Given the description of an element on the screen output the (x, y) to click on. 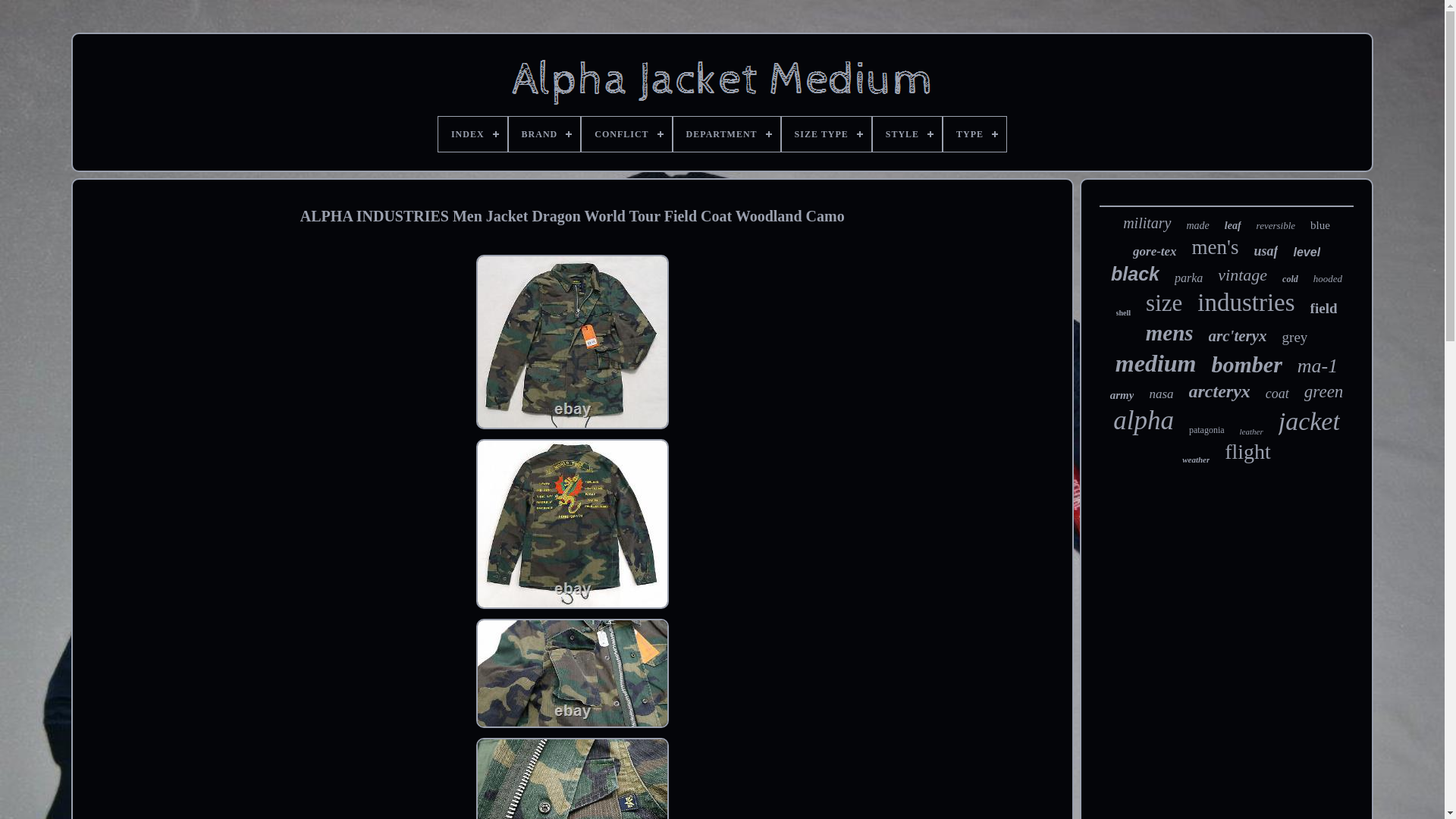
DEPARTMENT (726, 134)
CONFLICT (625, 134)
BRAND (544, 134)
INDEX (472, 134)
